Given the description of an element on the screen output the (x, y) to click on. 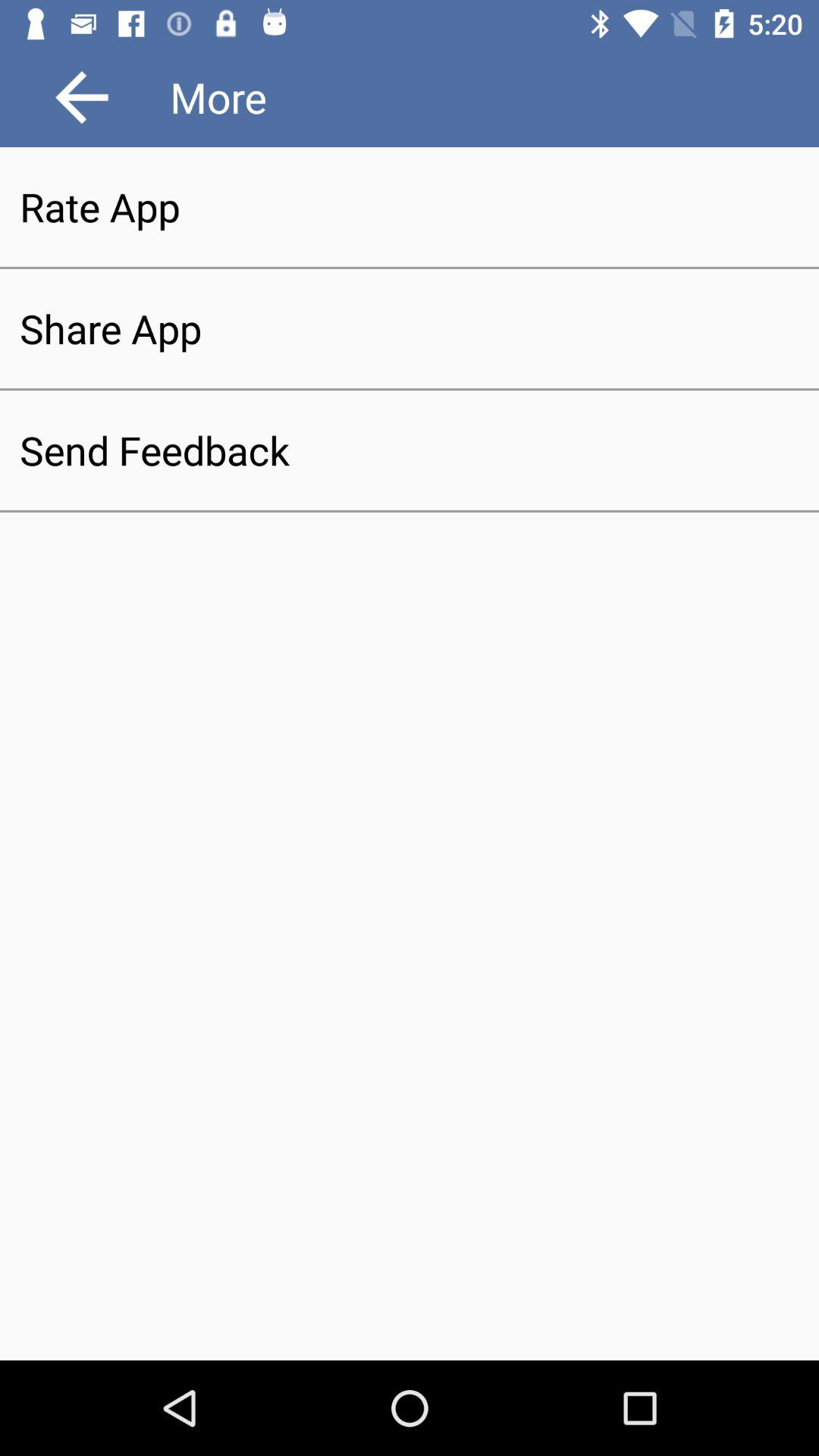
turn on item above the rate app item (81, 97)
